Given the description of an element on the screen output the (x, y) to click on. 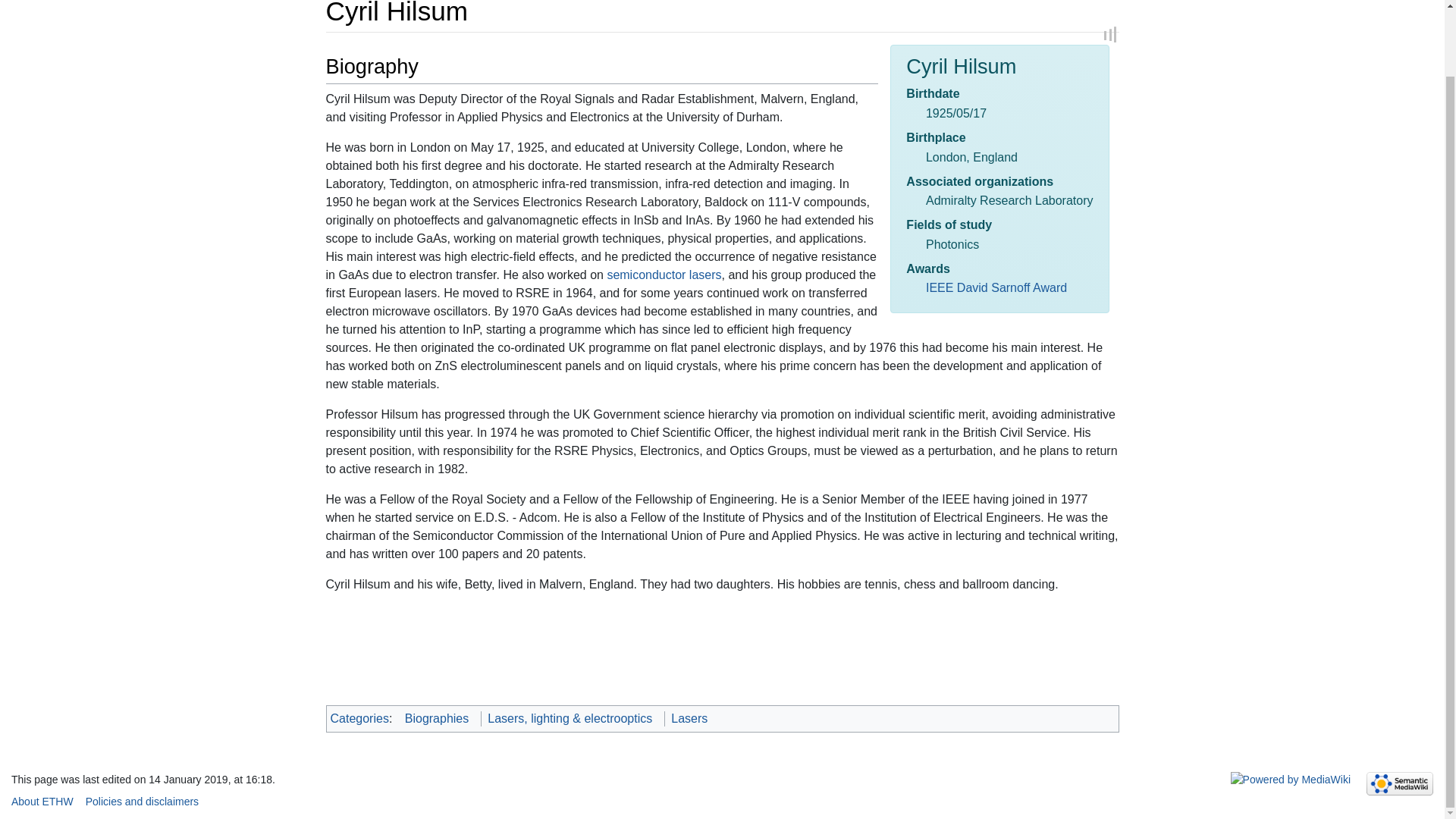
semiconductor lasers (663, 274)
IEEE David Sarnoff Award (996, 287)
